Given the description of an element on the screen output the (x, y) to click on. 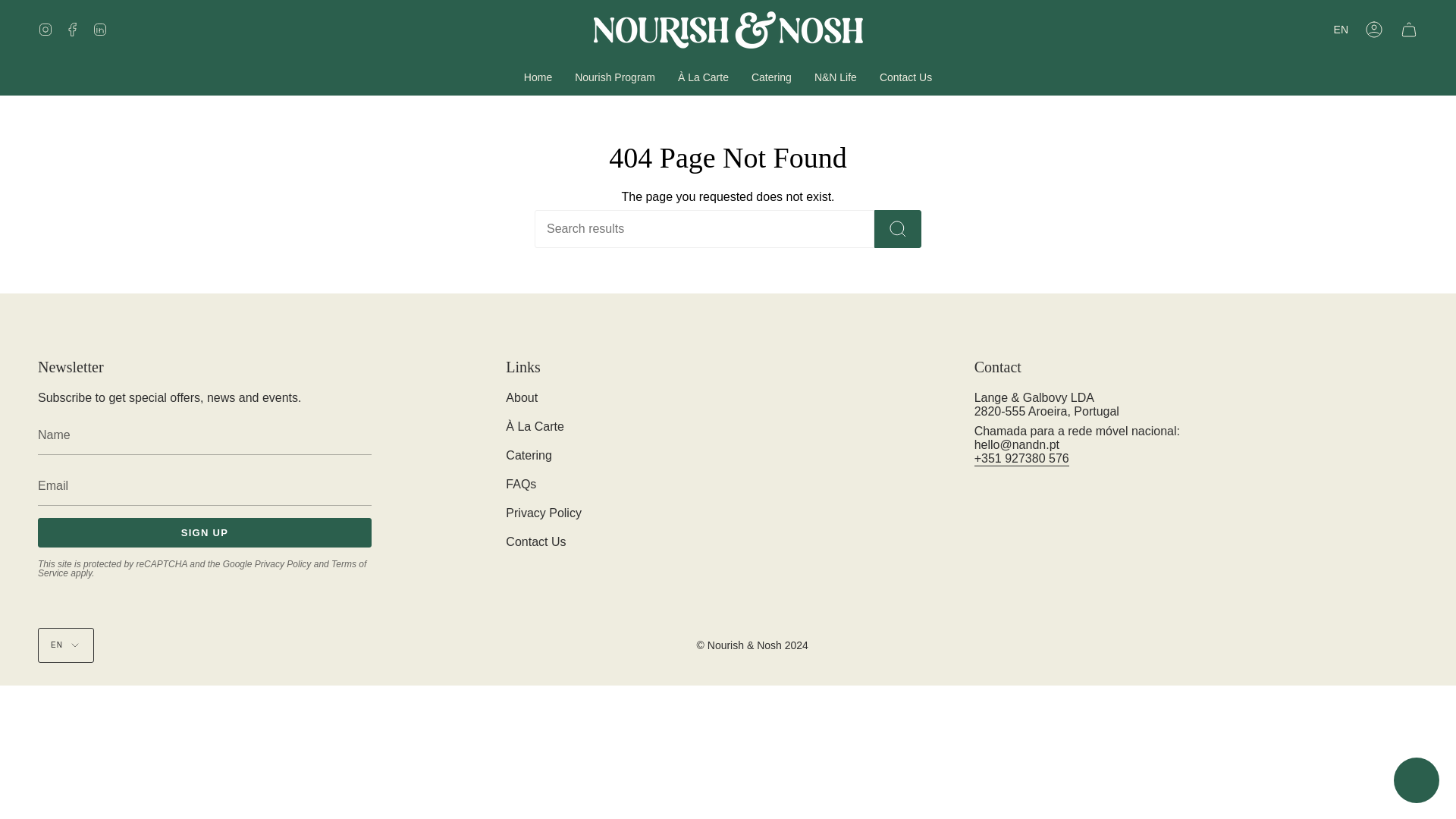
Home (537, 77)
Nourish Program (614, 77)
Catering (771, 77)
Contact Us (905, 77)
